Given the description of an element on the screen output the (x, y) to click on. 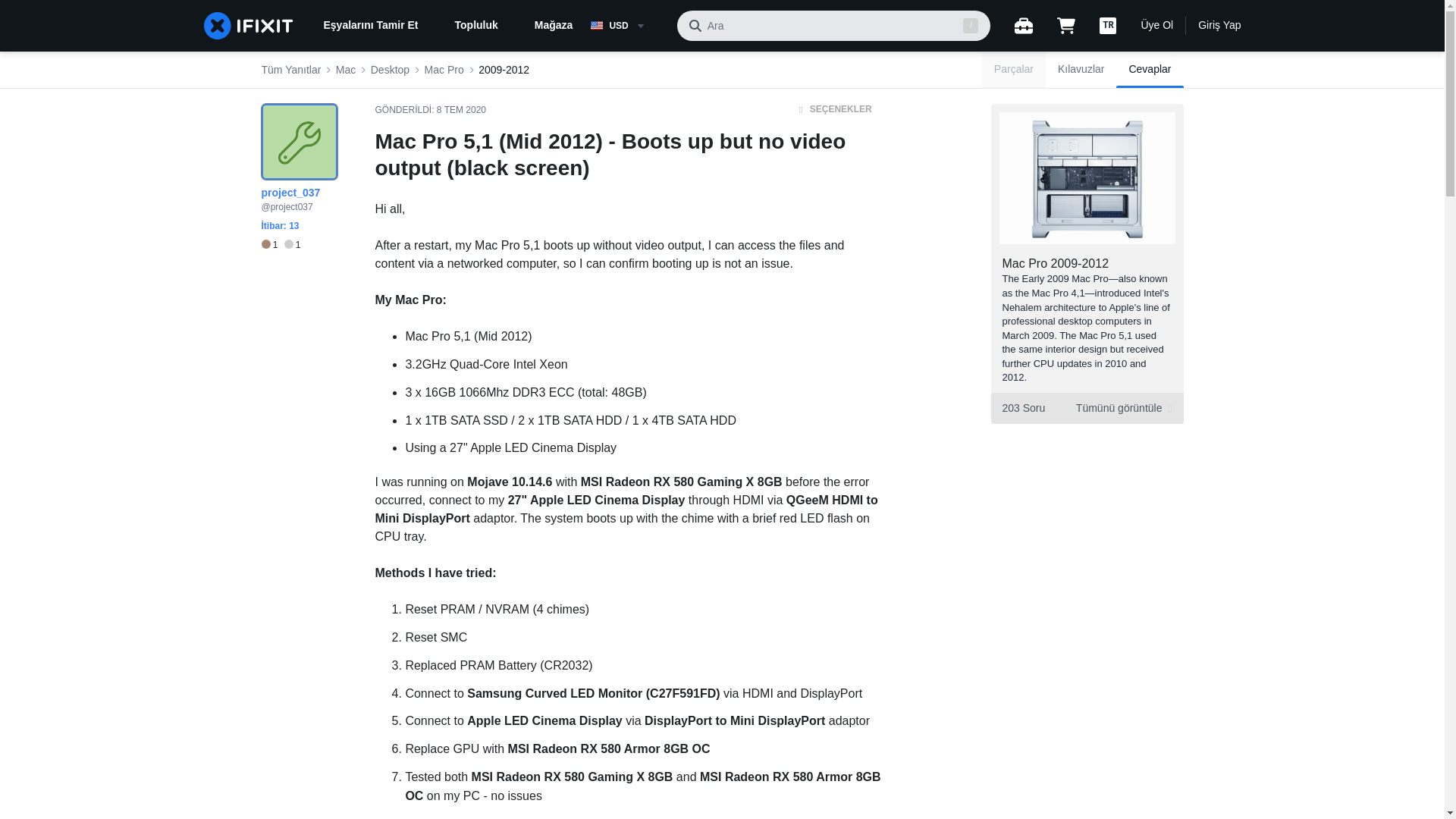
1 1 (279, 245)
2009-2012 (504, 69)
1 Bronz rozeti (271, 245)
Cevaplar (1149, 69)
Mac Pro (444, 69)
Wed, 08 Jul 2020 04:20:40 -0700 (461, 109)
Mac (345, 69)
Mac Pro 2009-2012 (1056, 263)
Desktop (390, 69)
USD (627, 25)
